Given the description of an element on the screen output the (x, y) to click on. 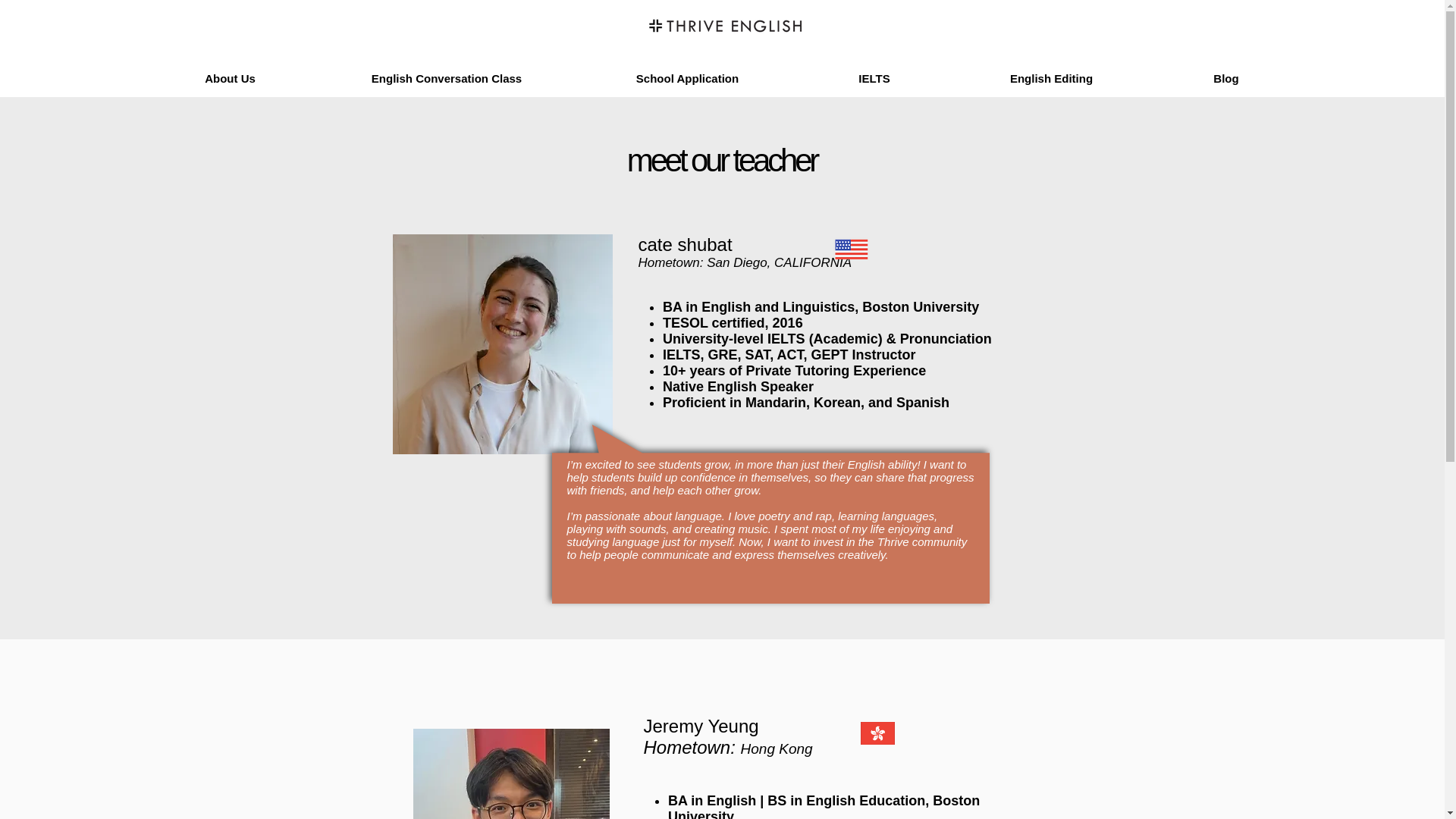
IELTS (873, 78)
Blog (1225, 78)
